Given the description of an element on the screen output the (x, y) to click on. 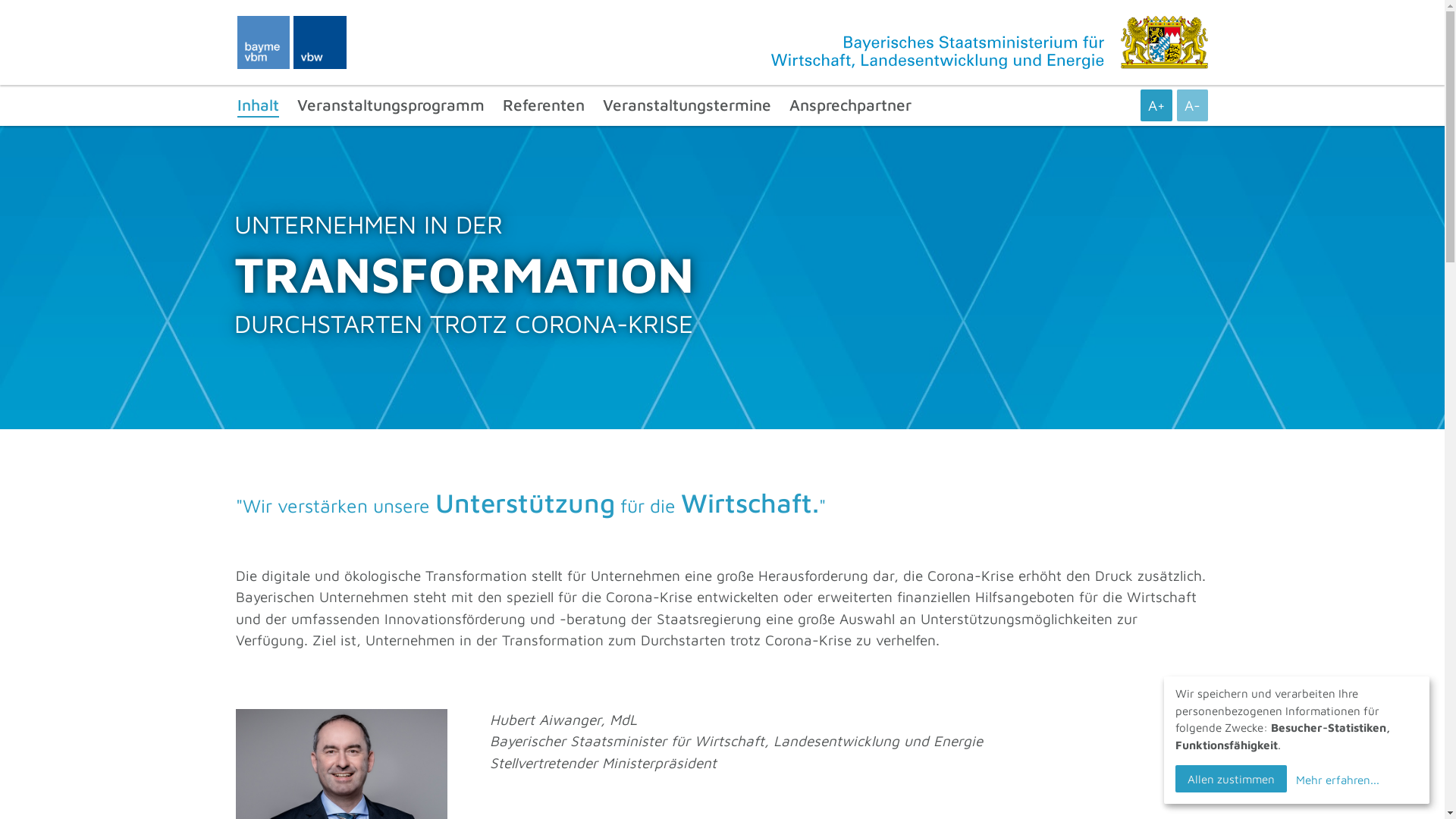
A+ Element type: text (1156, 105)
bayme vbm Element type: hover (262, 42)
Bayerns Wirtschaftsminister Hubert Aiwanger Element type: hover (340, 763)
Veranstaltungstermine Element type: text (686, 104)
vbw Element type: hover (319, 42)
A- Element type: text (1192, 105)
Allen zustimmen Element type: text (1230, 778)
Veranstaltungsprogramm Element type: text (390, 104)
Ansprechpartner Element type: text (849, 104)
Mehr erfahren... Element type: text (1335, 779)
Referenten Element type: text (542, 104)
